Given the description of an element on the screen output the (x, y) to click on. 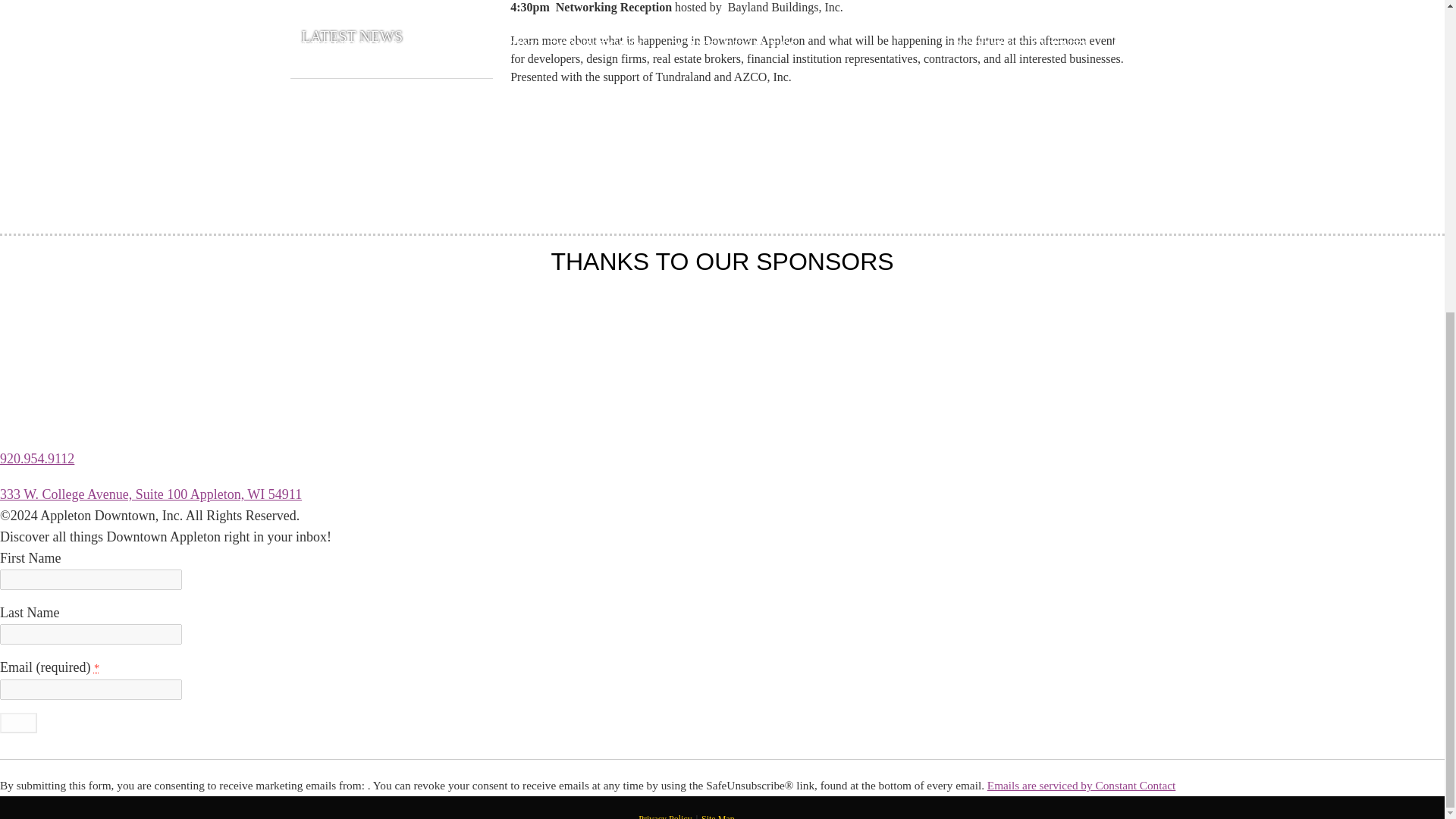
GO! (18, 722)
